Given the description of an element on the screen output the (x, y) to click on. 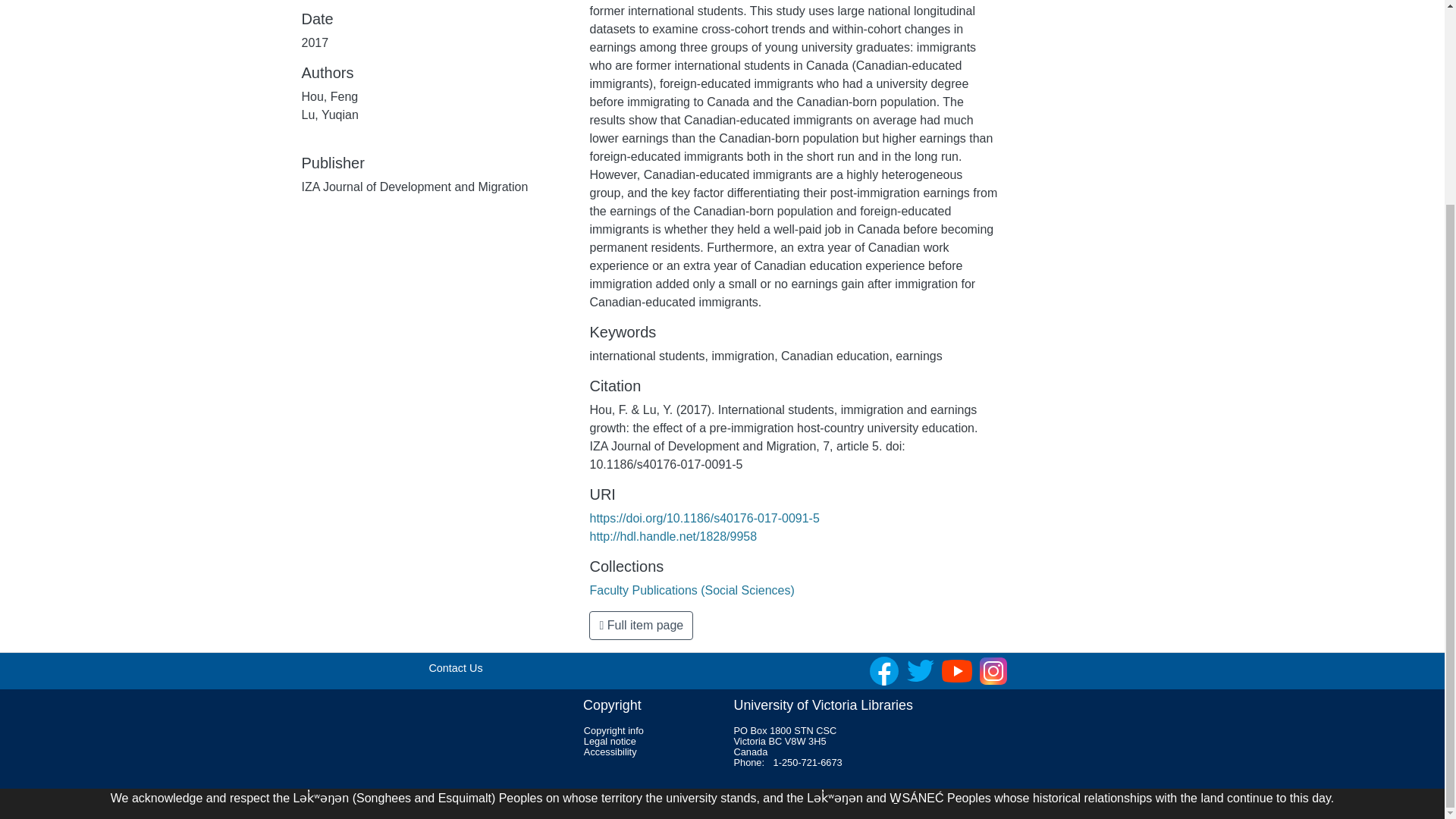
Full item page (641, 624)
Contact Us (454, 667)
